Given the description of an element on the screen output the (x, y) to click on. 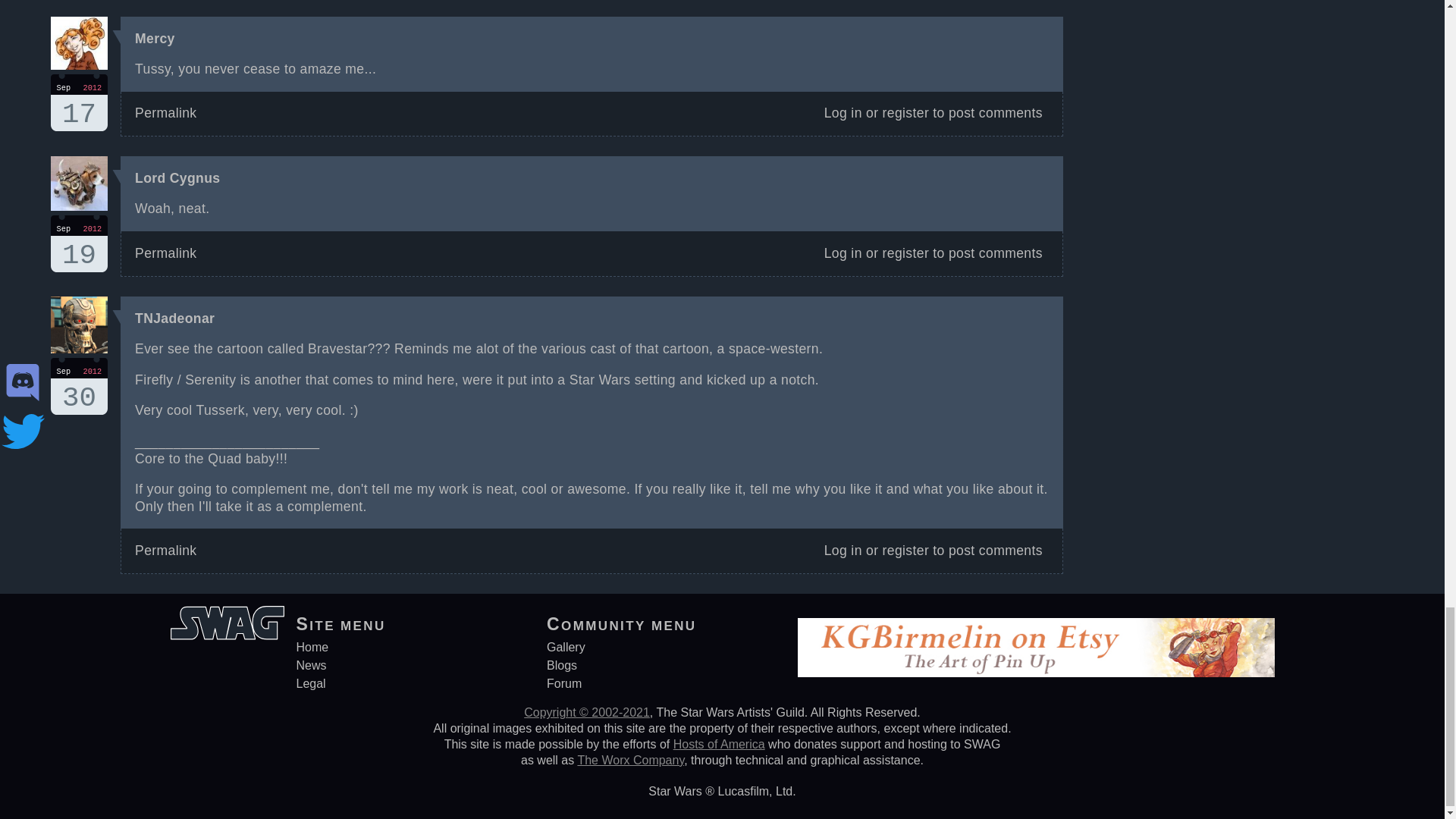
register (905, 112)
Permalink (165, 112)
View user profile. (177, 177)
View user profile. (174, 318)
Log in (842, 112)
View user profile. (78, 102)
